Given the description of an element on the screen output the (x, y) to click on. 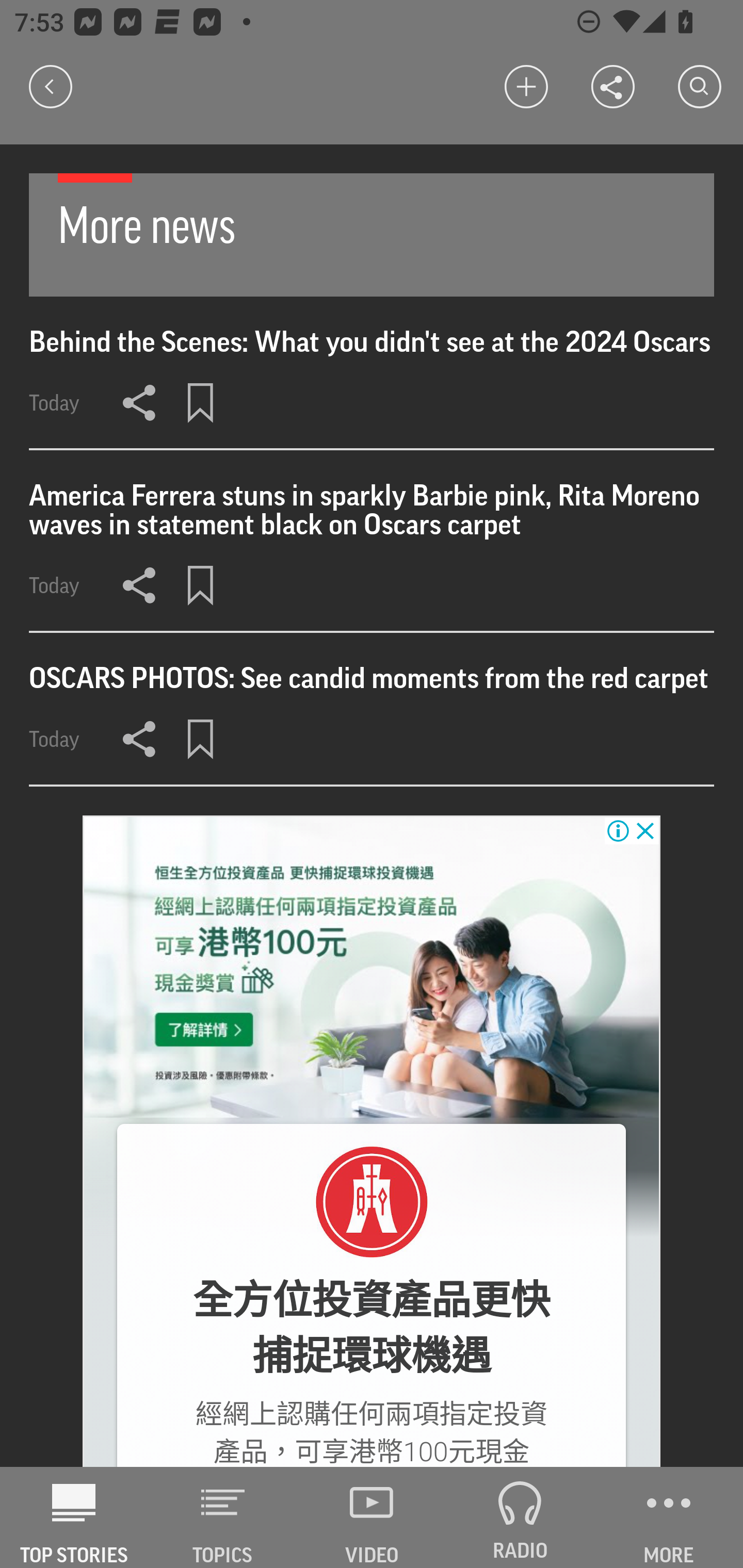
B31268930 (371, 970)
B31268930 (371, 1201)
全方位投資產品更快 捕捉環球機遇 全方位投資產品更快 捕捉環球機遇 (371, 1328)
AP News TOP STORIES (74, 1517)
TOPICS (222, 1517)
VIDEO (371, 1517)
RADIO (519, 1517)
MORE (668, 1517)
